Given the description of an element on the screen output the (x, y) to click on. 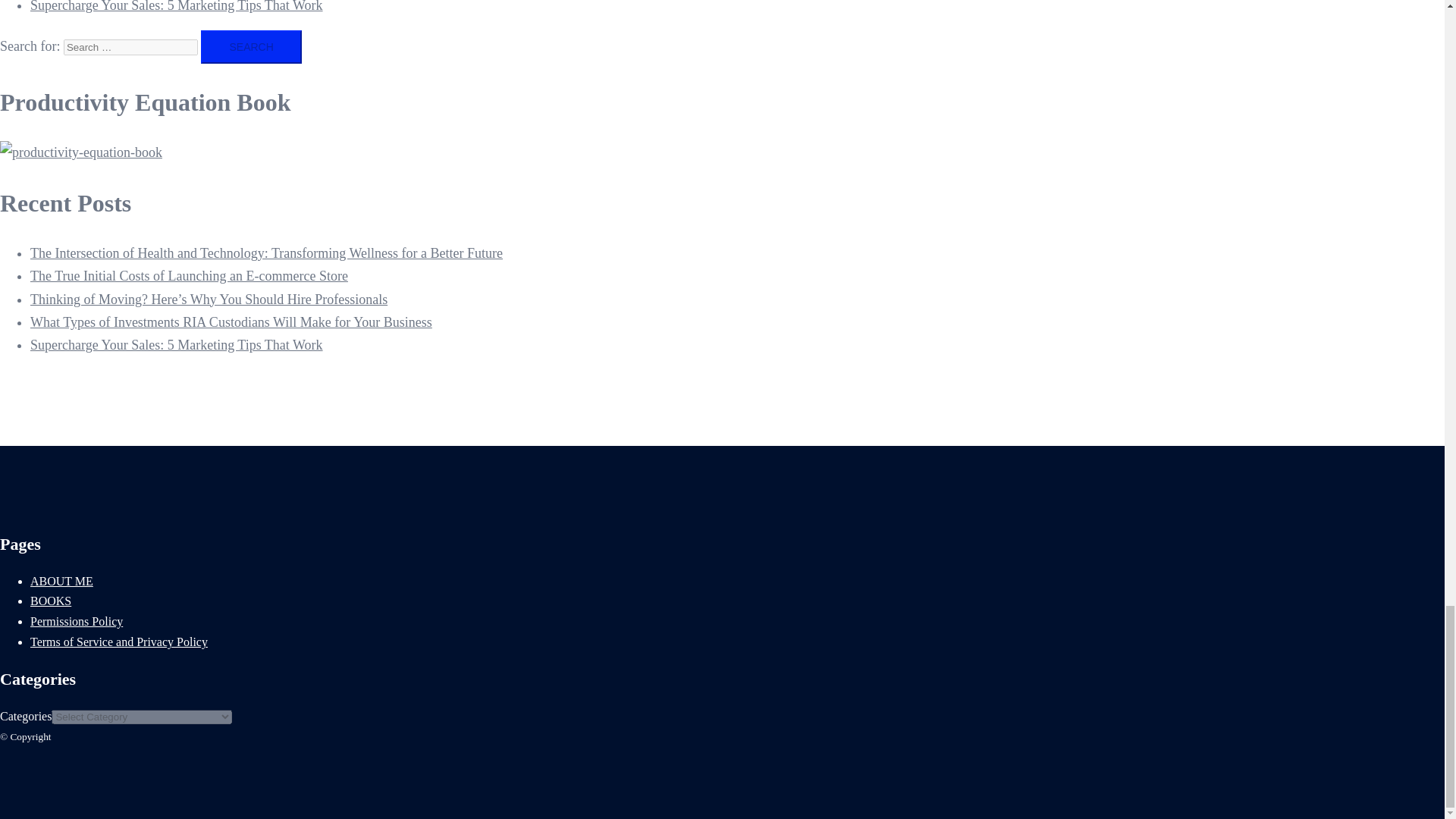
Search (250, 46)
Search (250, 46)
Supercharge Your Sales: 5 Marketing Tips That Work (176, 6)
The True Initial Costs of Launching an E-commerce Store (188, 275)
Search (250, 46)
Supercharge Your Sales: 5 Marketing Tips That Work (176, 344)
